Given the description of an element on the screen output the (x, y) to click on. 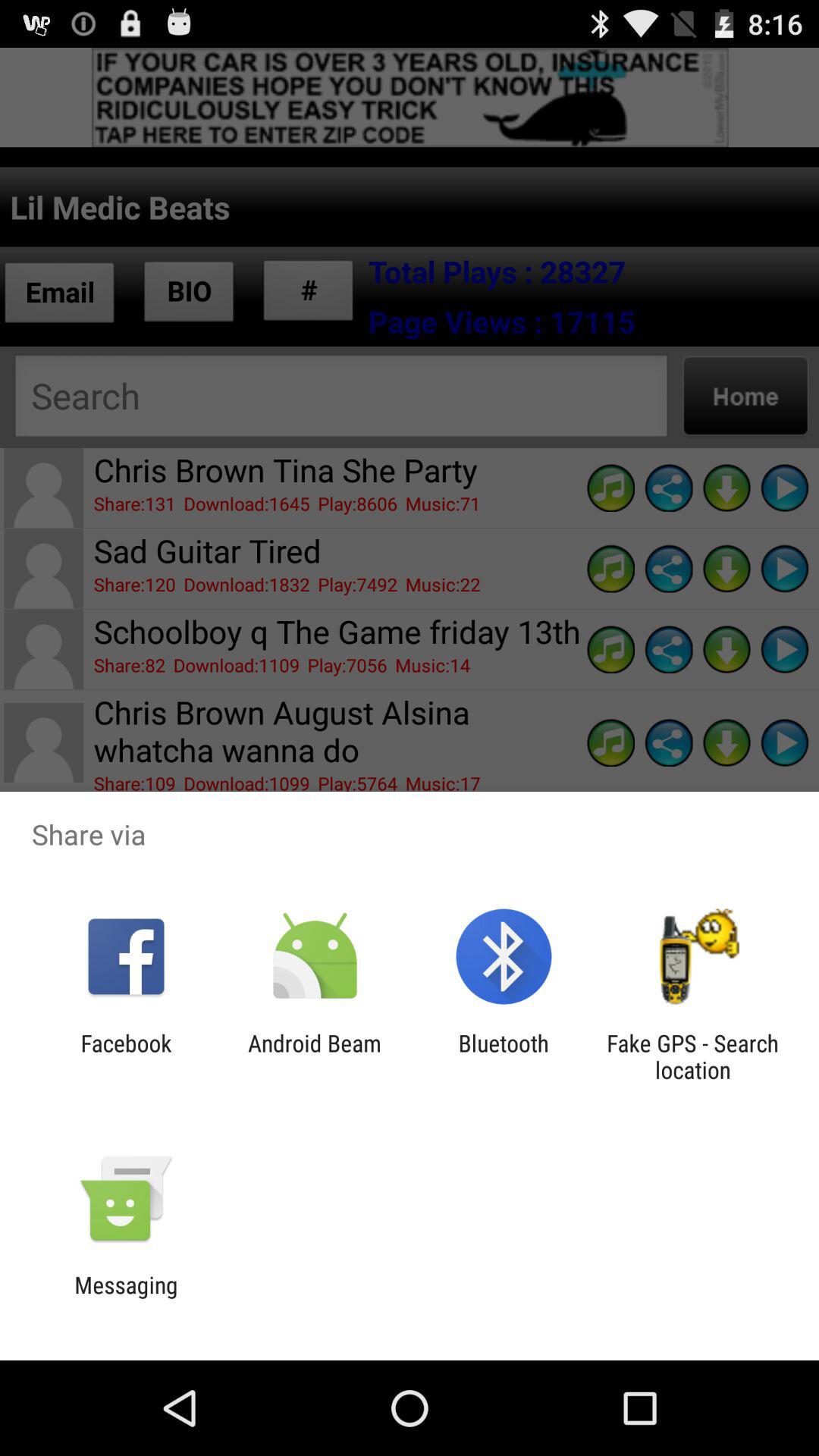
turn on the icon next to the android beam icon (125, 1056)
